Given the description of an element on the screen output the (x, y) to click on. 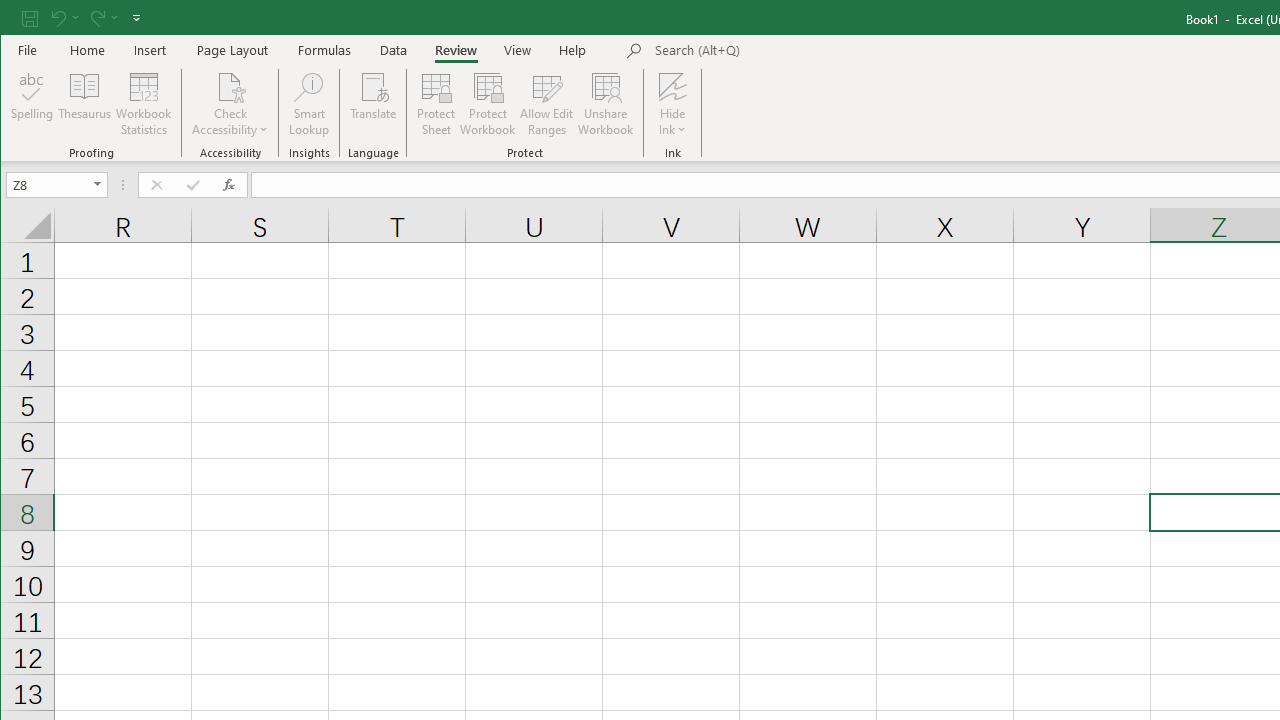
Translate (373, 104)
Spelling... (32, 104)
Unshare Workbook (606, 104)
Protect Workbook... (488, 104)
Hide Ink (672, 104)
Protect Sheet... (436, 104)
Check Accessibility (230, 86)
Allow Edit Ranges (547, 104)
